Given the description of an element on the screen output the (x, y) to click on. 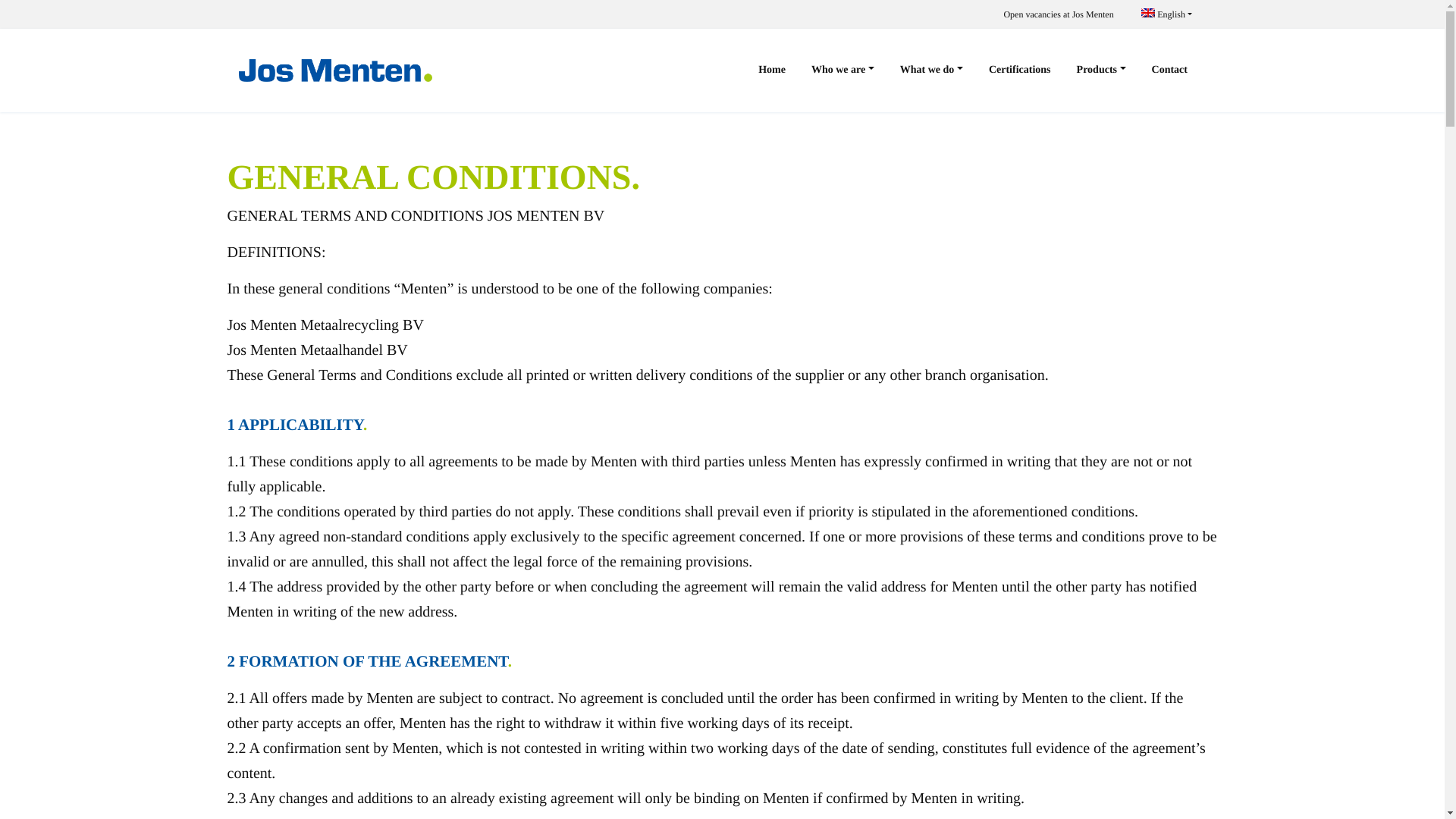
English (1165, 14)
What we do (930, 70)
Home (771, 70)
Open vacancies at Jos Menten (1058, 14)
Products (1101, 70)
English (1165, 14)
Contact (1168, 70)
Certifications (1019, 70)
Who we are (841, 70)
